Given the description of an element on the screen output the (x, y) to click on. 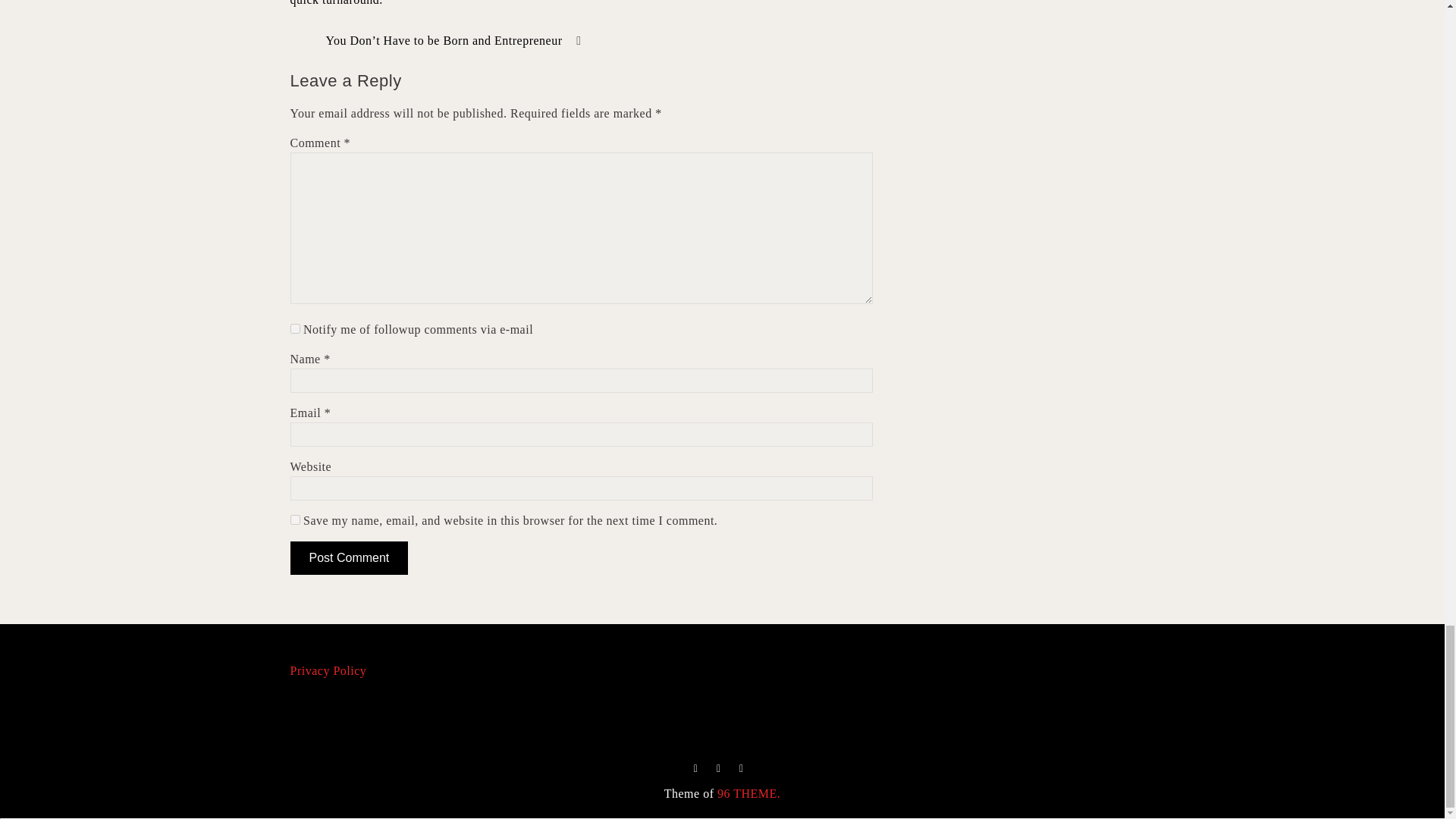
subscribe (294, 328)
96 THEME. (748, 793)
Post Comment (348, 557)
Privacy Policy (327, 670)
yes (294, 519)
Post Comment (348, 557)
